Given the description of an element on the screen output the (x, y) to click on. 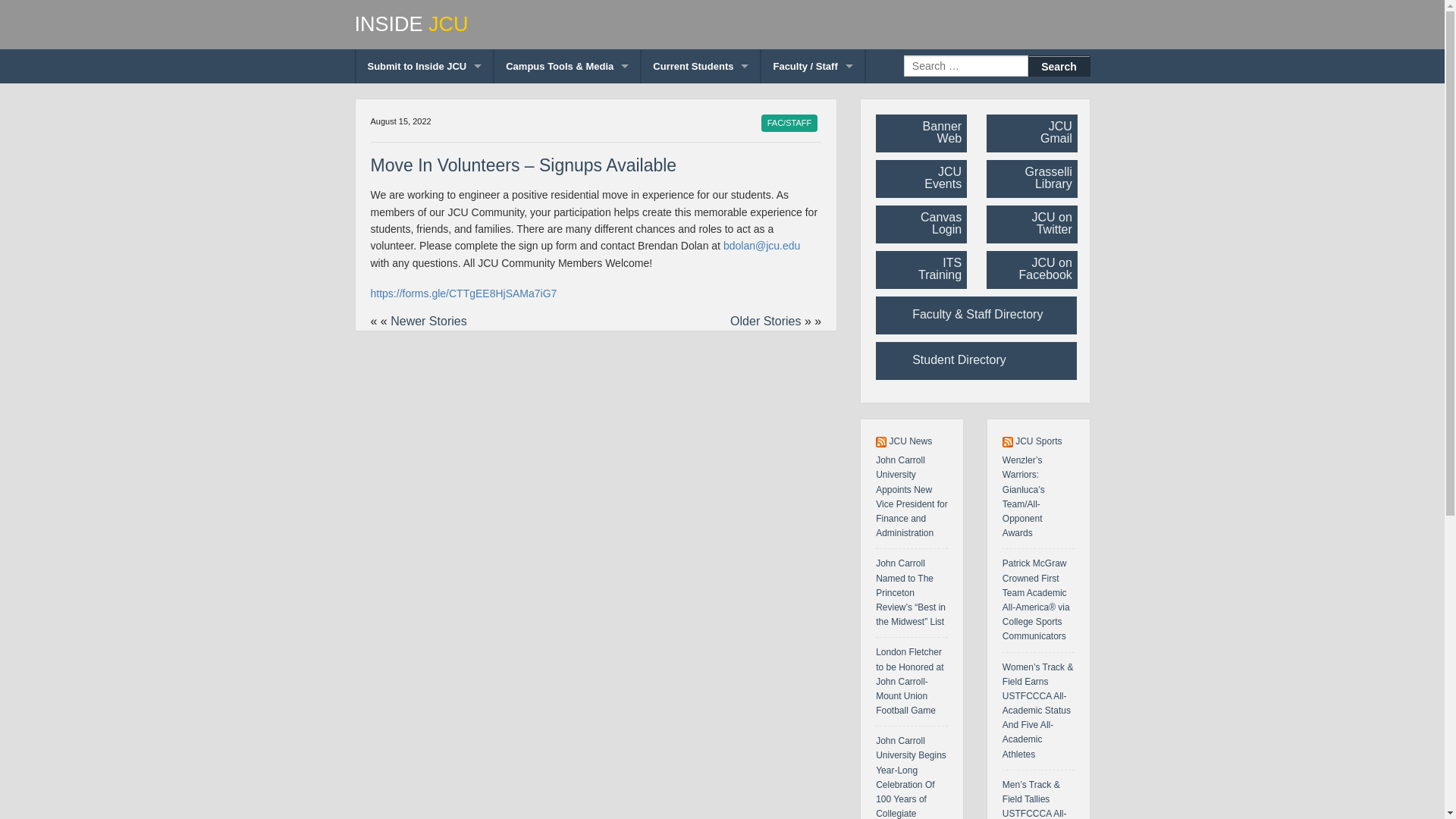
Current Students (701, 66)
Search (1058, 65)
Search (1058, 65)
Submit to Inside JCU (424, 66)
Search for: (965, 65)
INSIDE JCU (722, 24)
